Given the description of an element on the screen output the (x, y) to click on. 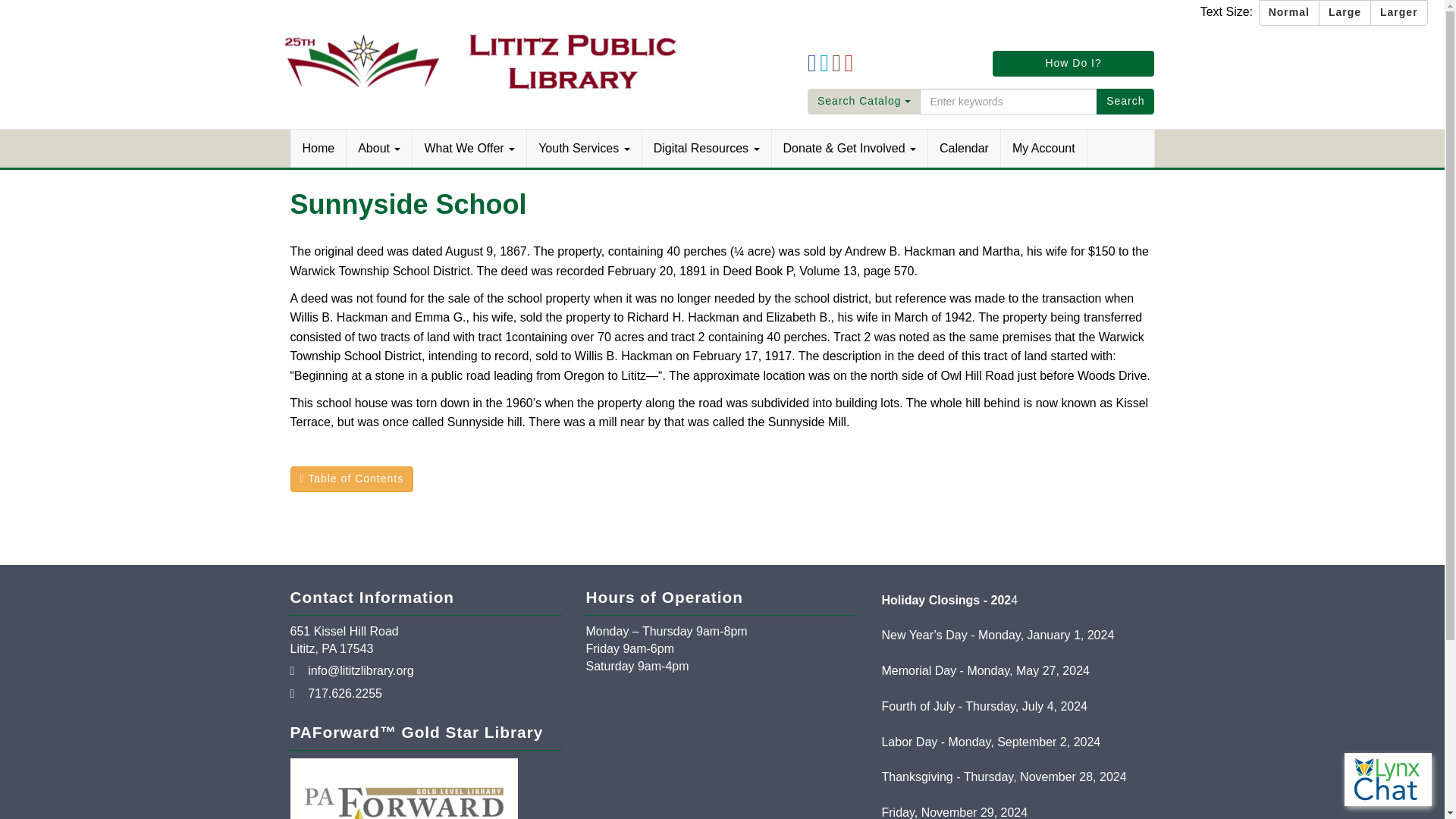
Home (319, 148)
How Do I? (1073, 63)
What We Offer (469, 148)
Larger (1399, 12)
Search Catalog (864, 101)
Lititz Public Library (483, 54)
Normal (1289, 12)
Search (1125, 101)
Search for: (1008, 101)
Search (1125, 101)
Search (1125, 101)
Home (319, 148)
About (379, 148)
Large (1345, 12)
What We Offer (469, 148)
